Given the description of an element on the screen output the (x, y) to click on. 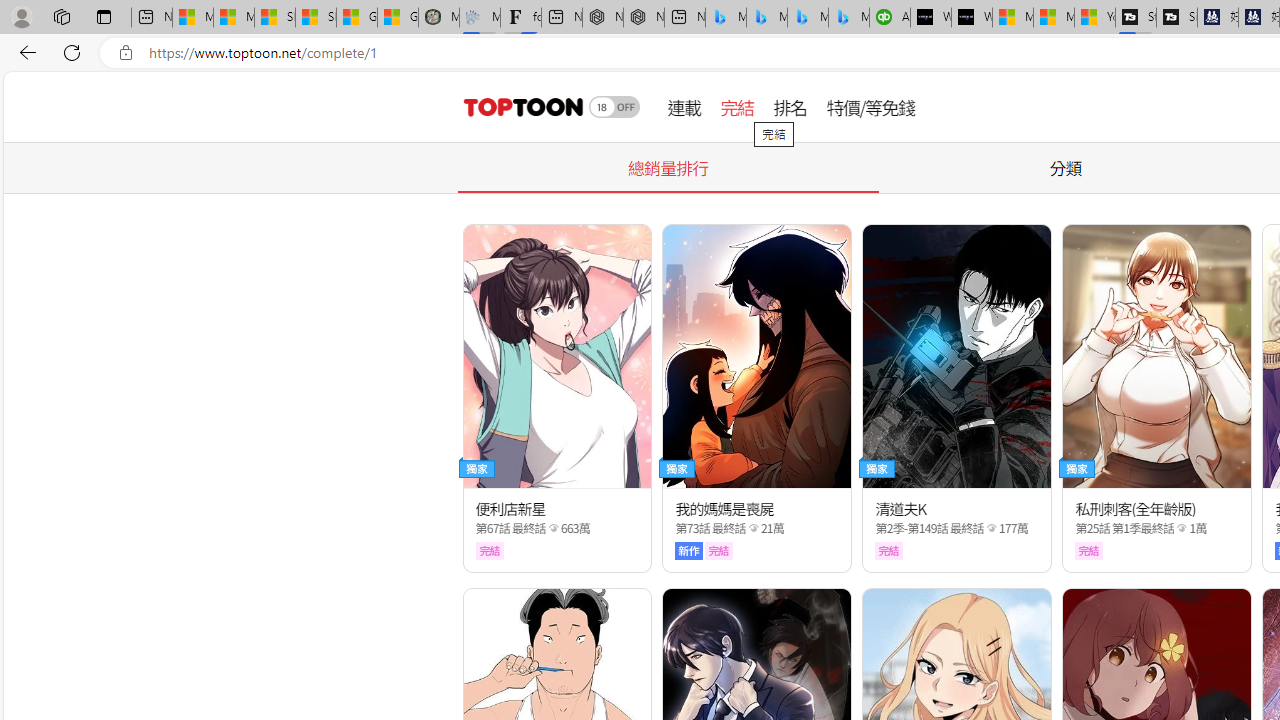
Nordace - #1 Japanese Best-Seller - Siena Smart Backpack (643, 17)
Streaming Coverage | T3 (1135, 17)
Class: epicon_starpoint (1182, 527)
Shanghai, China weather forecast | Microsoft Weather (315, 17)
Gilma and Hector both pose tropical trouble for Hawaii (397, 17)
